Given the description of an element on the screen output the (x, y) to click on. 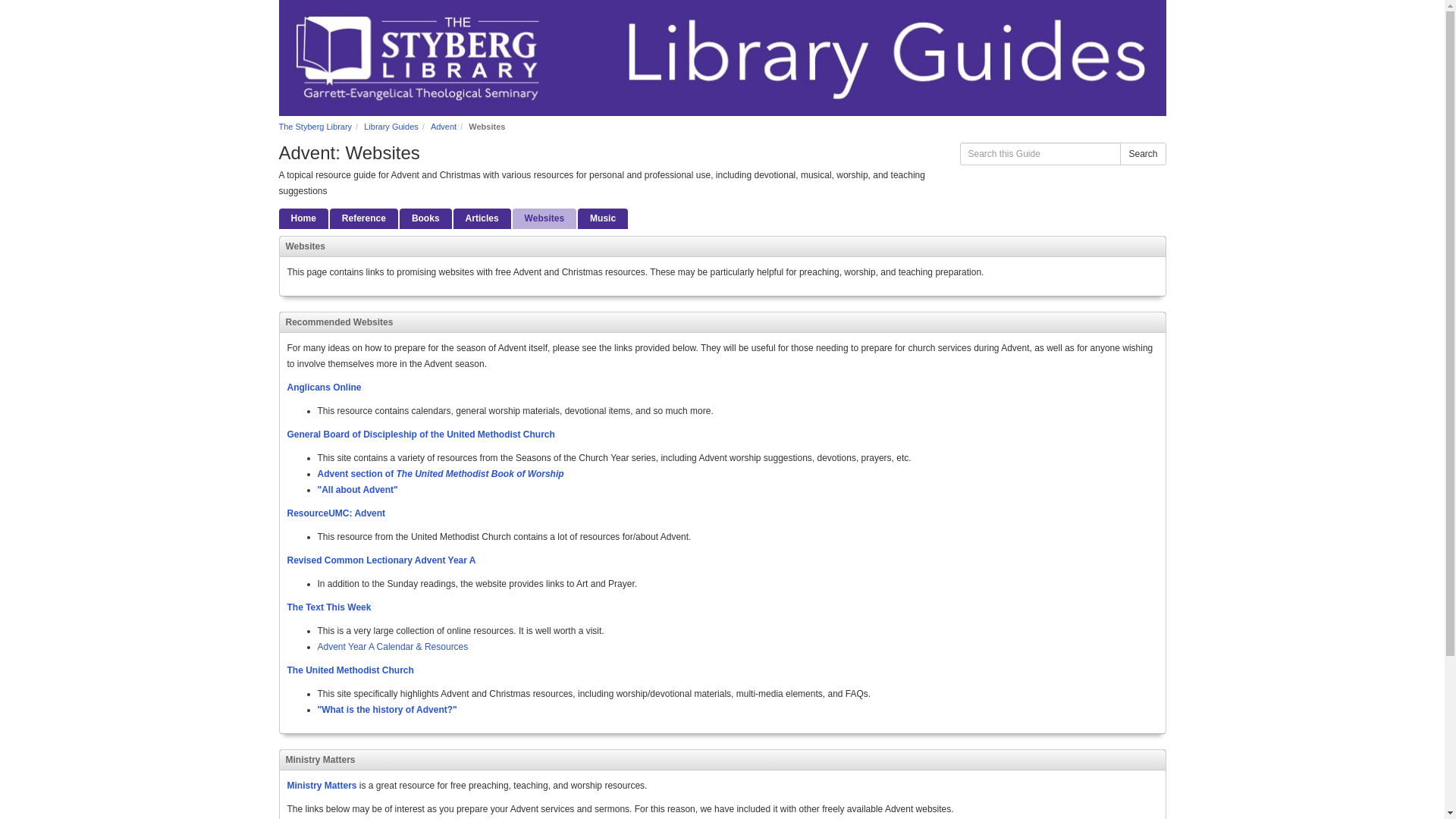
Advent section of The United Methodist Book of Worship (440, 473)
Home (304, 218)
Link to Lectionary, Scripture Study, and Worship Resources (328, 606)
Link to the Revised Common Lectionary (381, 560)
Revised Common Lectionary Advent Year A (381, 560)
Link to Ministry Matters (321, 785)
Search (1142, 153)
Library Guides (391, 126)
Music (602, 218)
ResourceUMC: Advent (335, 512)
The United Methodist Church (349, 670)
Books (424, 218)
Advent from the United Methodist Book of Worship (440, 473)
Reference (363, 218)
